Given the description of an element on the screen output the (x, y) to click on. 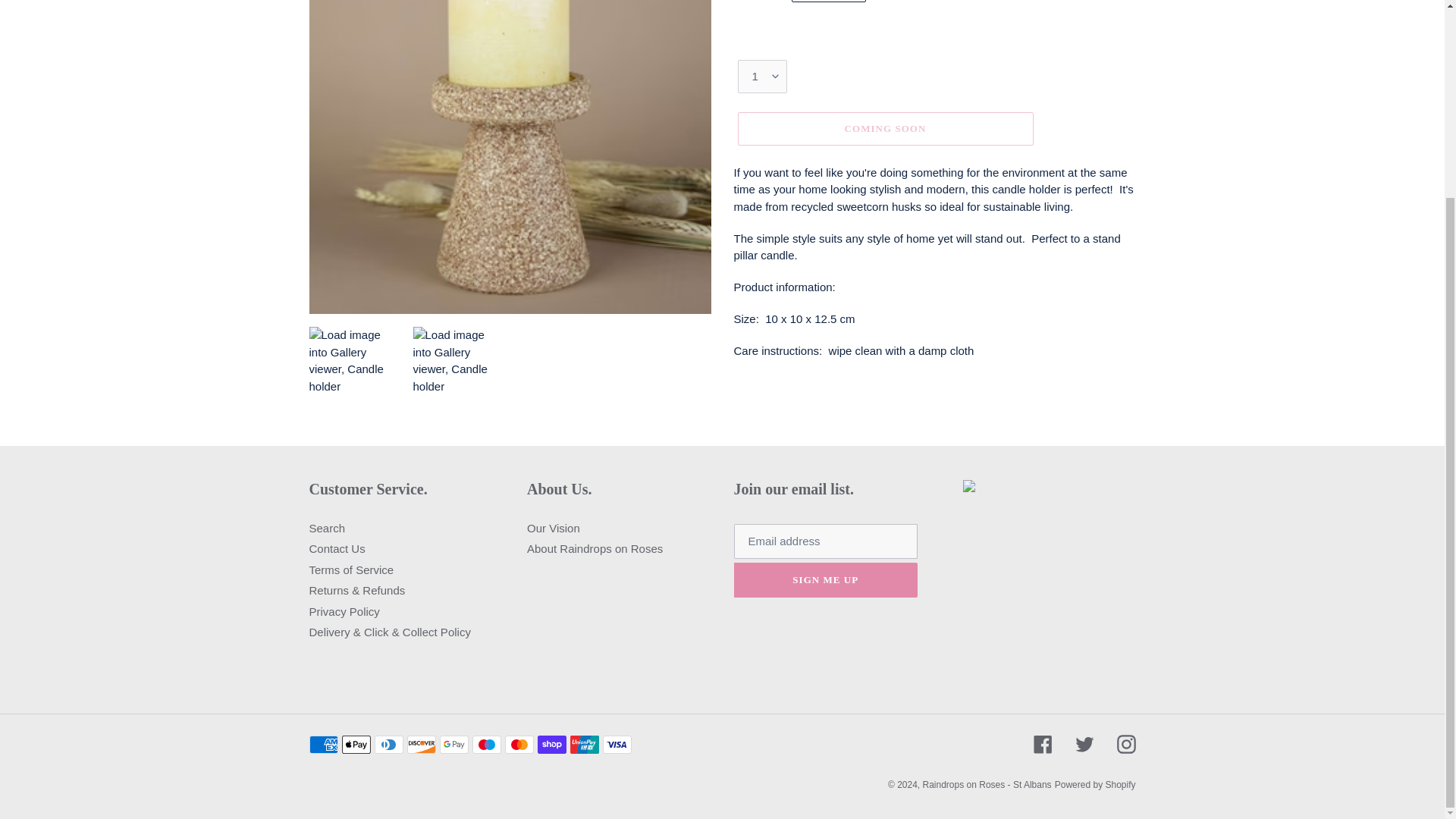
Mastercard (519, 744)
Google Pay (453, 744)
Diners Club (388, 744)
American Express (322, 744)
Discover (420, 744)
Maestro (485, 744)
Apple Pay (354, 744)
